Given the description of an element on the screen output the (x, y) to click on. 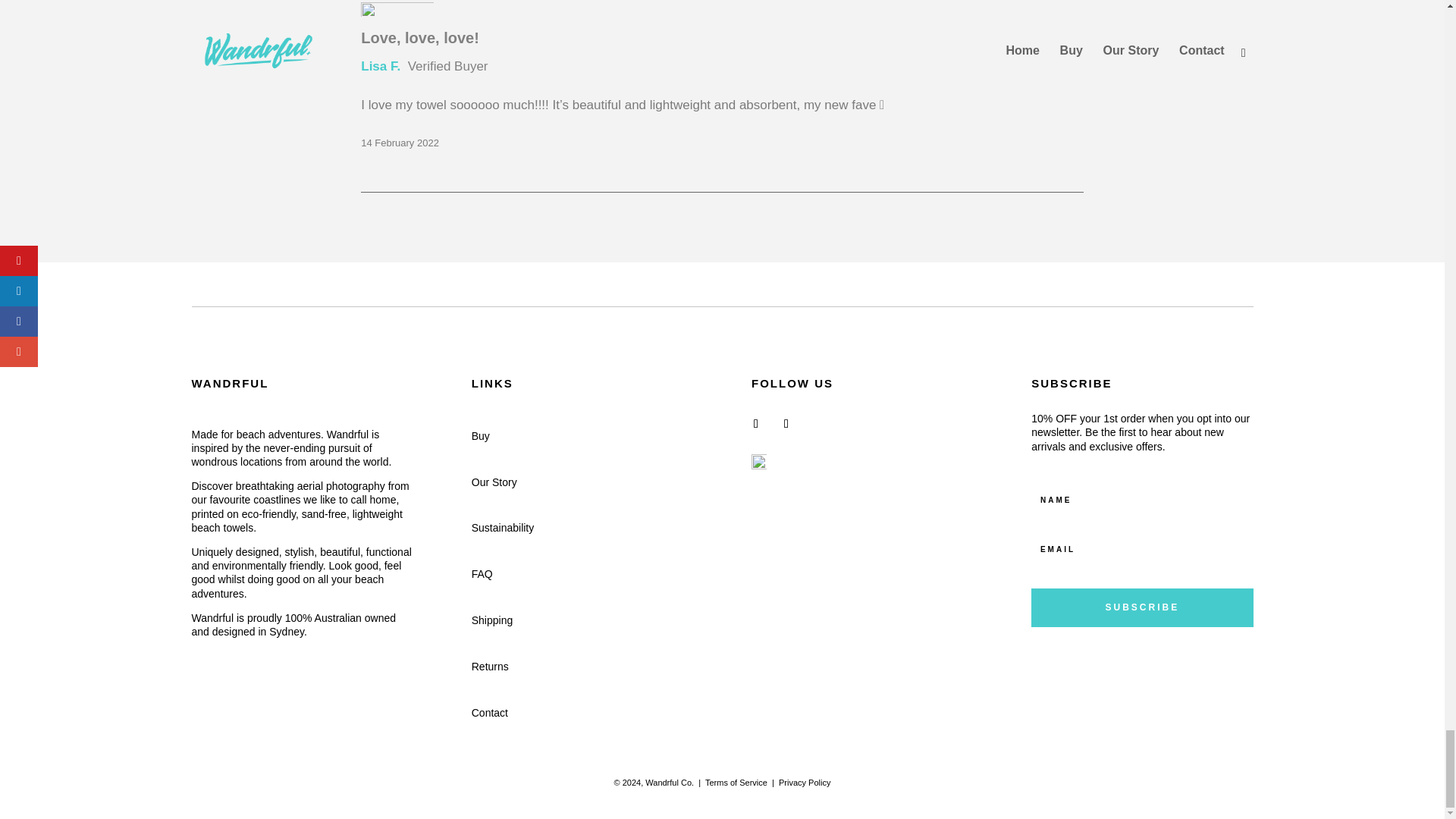
Sustainability (502, 527)
WANDRFUL (228, 382)
Shipping (492, 620)
Returns (489, 666)
Our Story (493, 481)
Privacy Policy (803, 782)
Contact (489, 712)
FAQ (482, 573)
Buy (480, 435)
Terms of Service (735, 782)
